Given the description of an element on the screen output the (x, y) to click on. 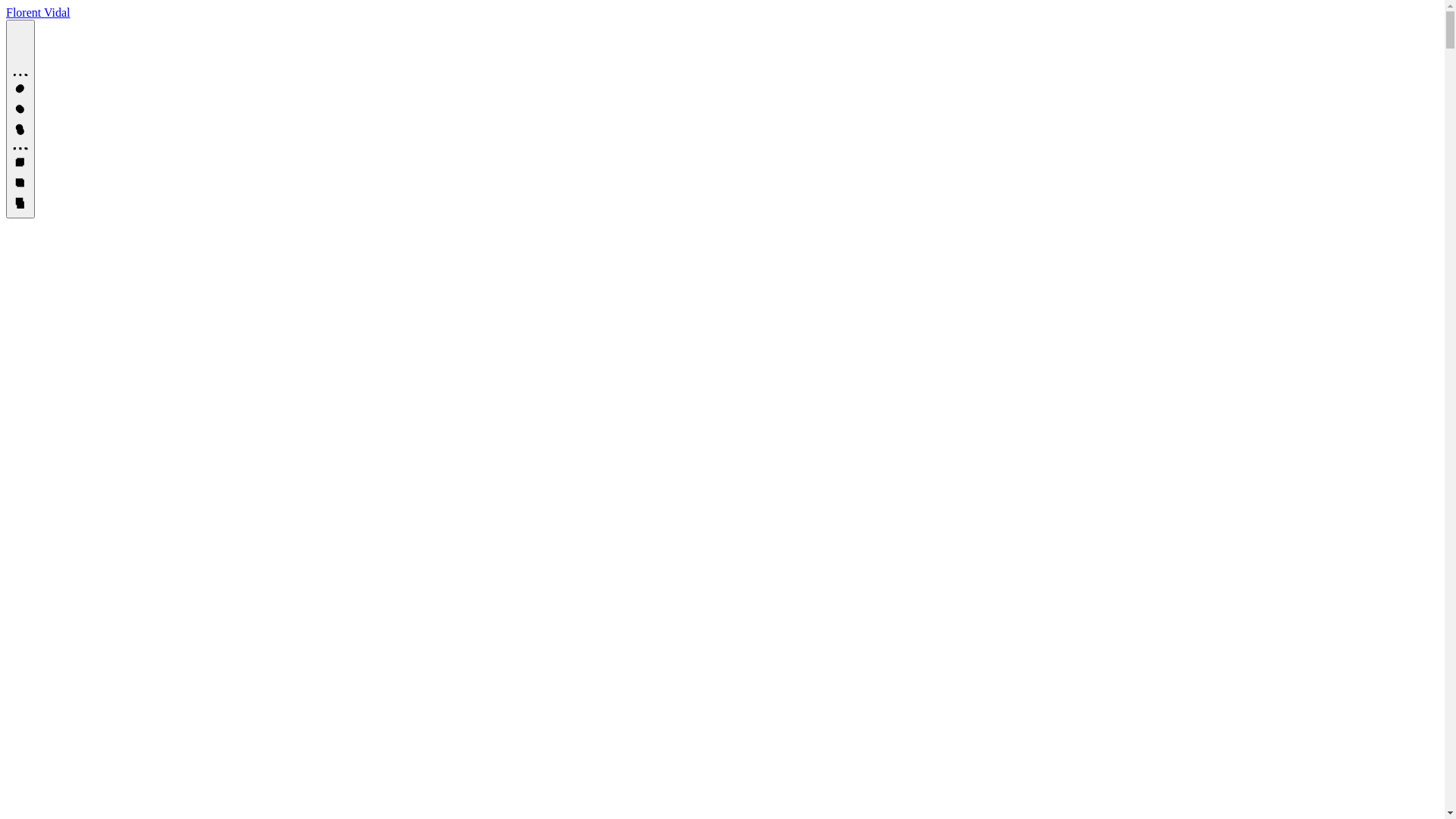
Florent Vidal Element type: text (38, 12)
